Given the description of an element on the screen output the (x, y) to click on. 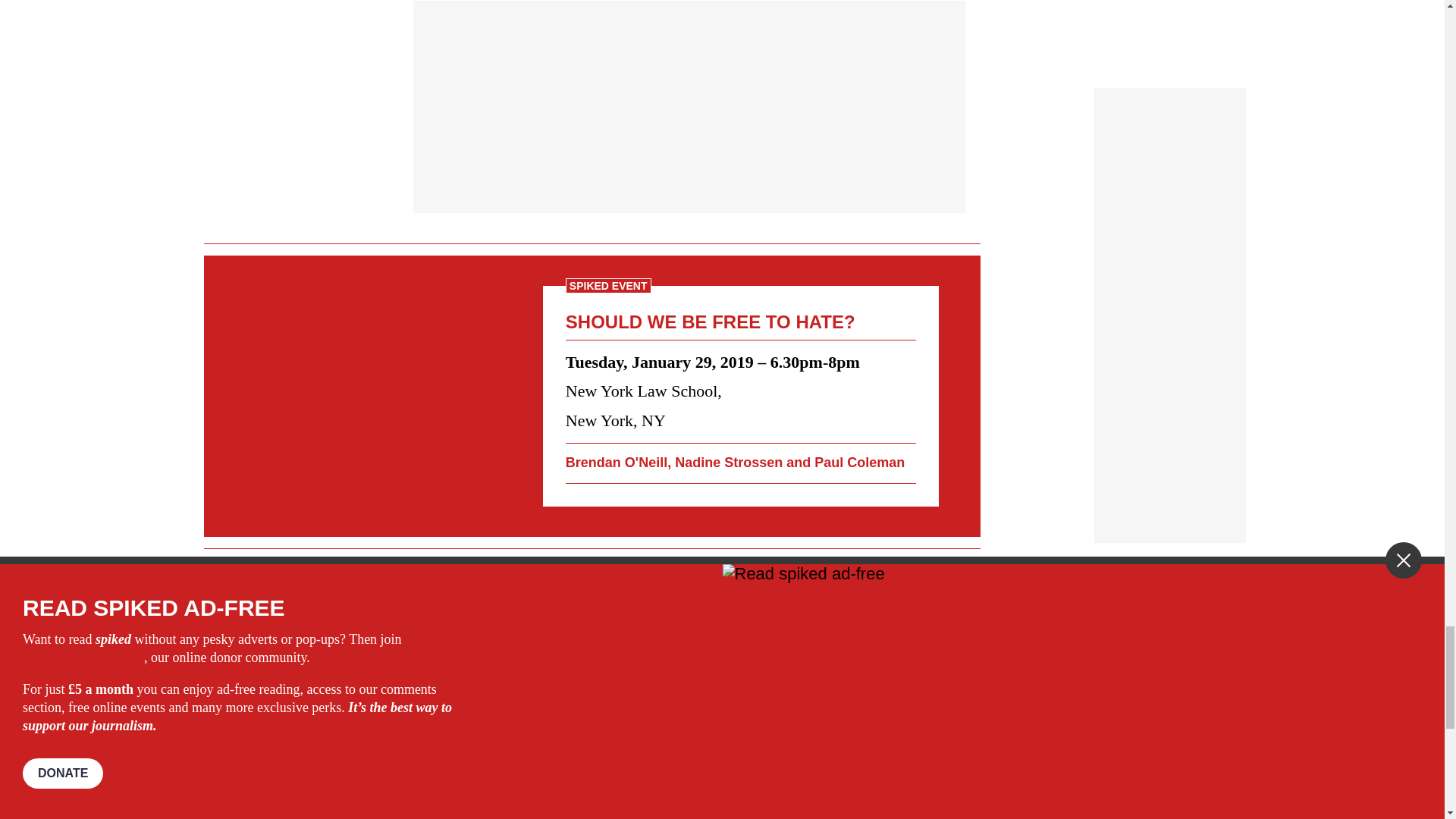
Share on Whatsapp (494, 678)
Share on Facebook (448, 678)
Share on Twitter (471, 678)
Share on Email (518, 678)
